Given the description of an element on the screen output the (x, y) to click on. 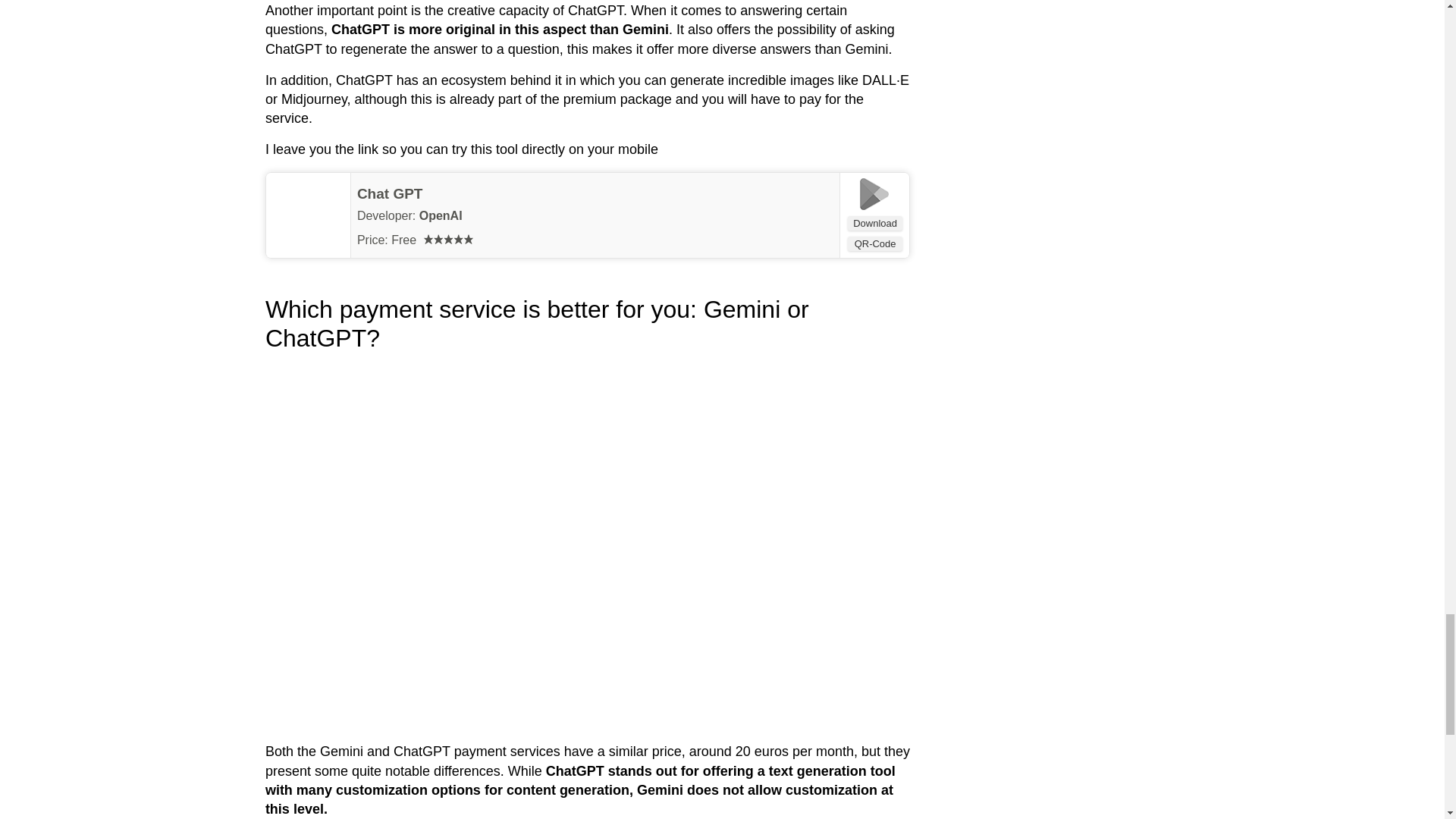
OpenAI (441, 215)
5 of 5 stars (448, 239)
Chat GPT (389, 193)
Download (874, 223)
Chat GPT (389, 193)
